Given the description of an element on the screen output the (x, y) to click on. 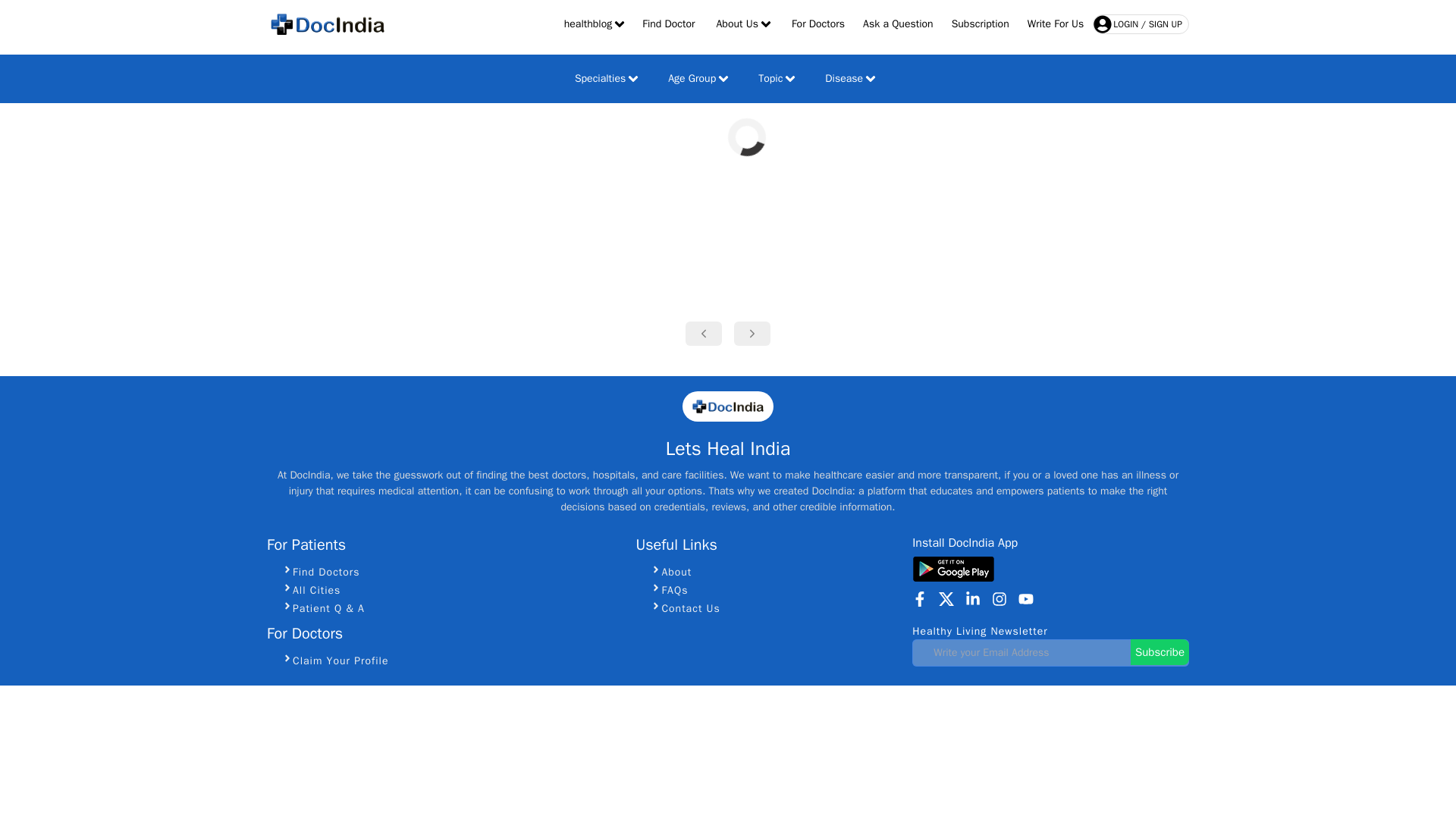
Youtube (1025, 598)
Instagram (999, 598)
Subscription (979, 23)
Subscribe (1160, 651)
All Cities (450, 590)
Find Doctors (450, 571)
Contact Us (773, 608)
About (773, 571)
Facebook (919, 598)
For Doctors (818, 23)
healthblog (593, 23)
FAQs (773, 590)
Ask a Question (897, 23)
Write For Us (1055, 23)
Linkedin (972, 598)
